Given the description of an element on the screen output the (x, y) to click on. 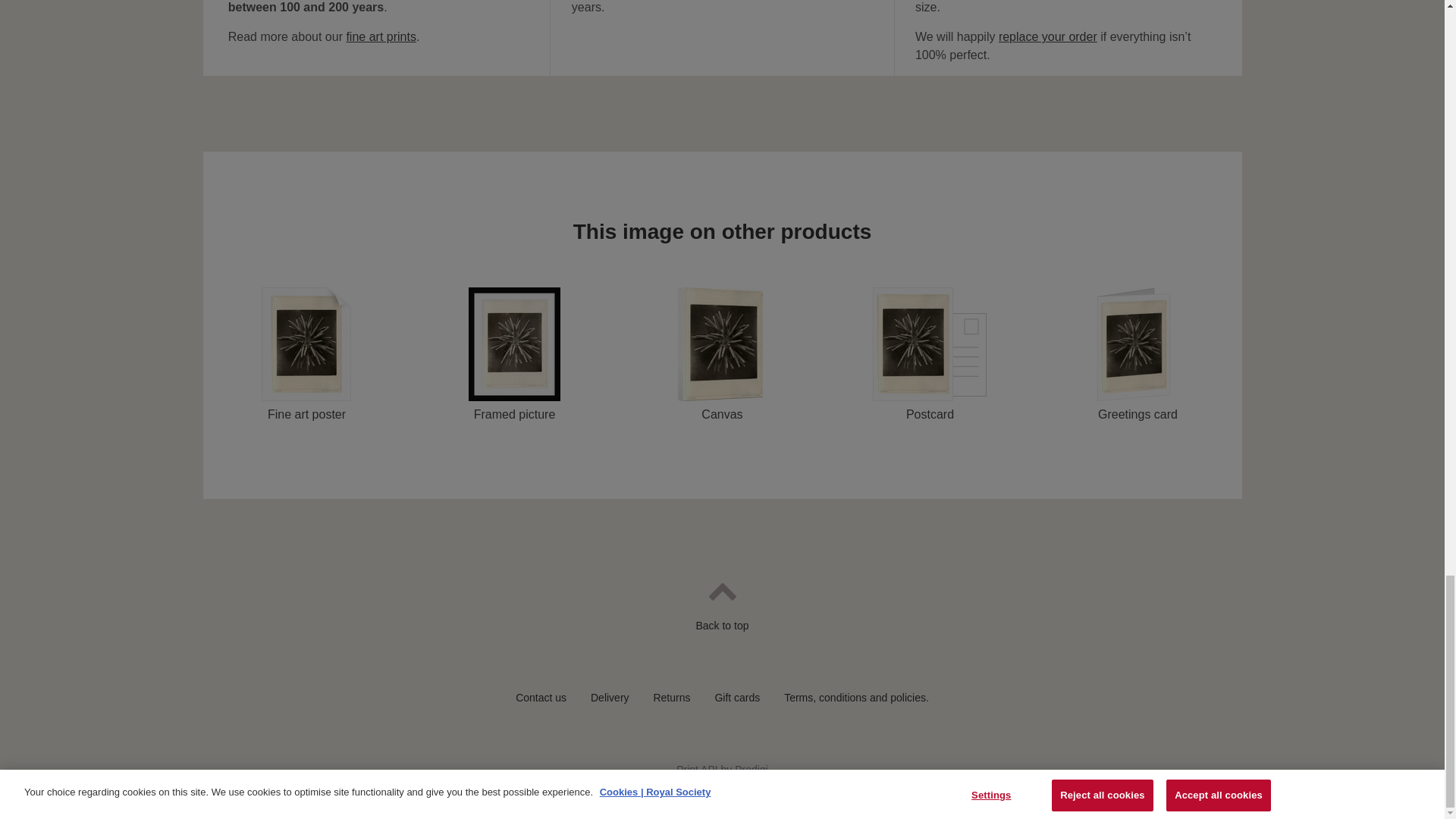
Canvas (721, 355)
Framed picture (514, 355)
Contact us (540, 697)
fine art prints (380, 36)
Back to top (721, 618)
Postcard (929, 355)
Greetings card (1137, 355)
replace your order (1047, 36)
Fine art poster (306, 355)
